Given the description of an element on the screen output the (x, y) to click on. 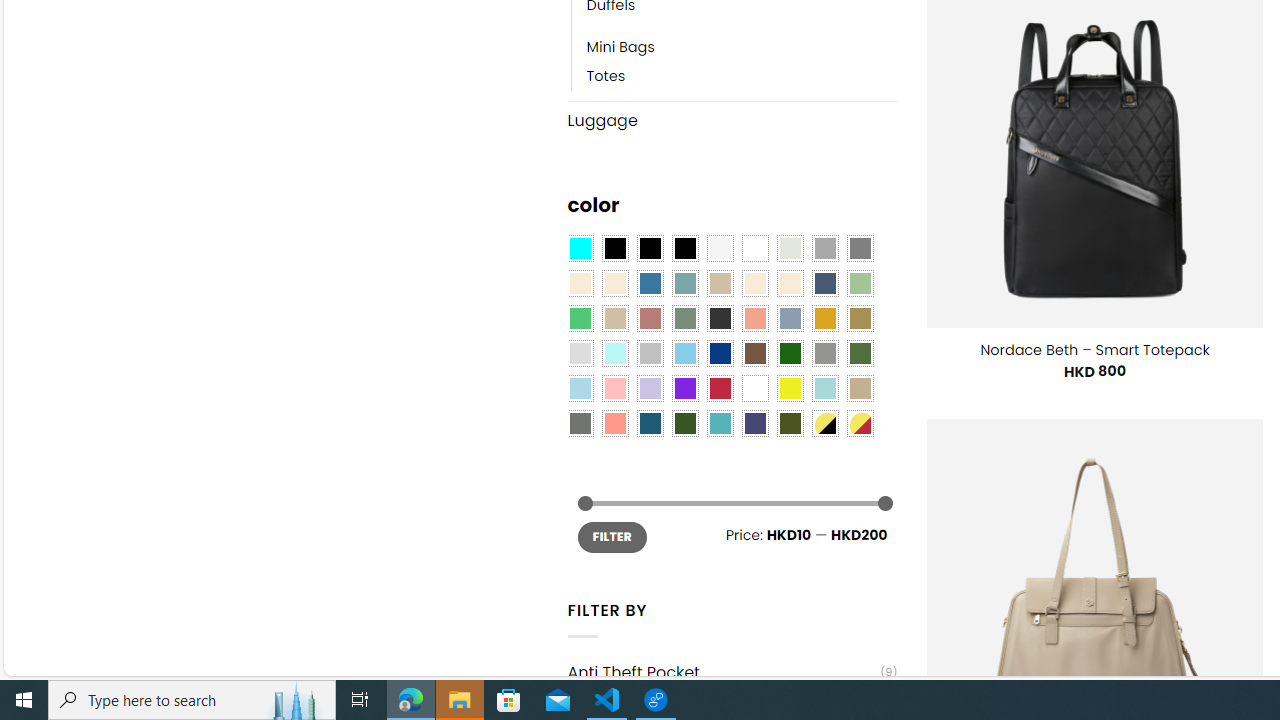
Totes (605, 76)
Luggage (732, 119)
Mint (614, 354)
Yellow (789, 388)
Brownie (719, 283)
Light Taupe (614, 318)
Teal (719, 424)
Black (650, 249)
Charcoal (719, 318)
Red (719, 388)
All Black (614, 249)
Forest (684, 424)
Gold (824, 318)
Silver (650, 354)
Emerald Green (579, 318)
